Given the description of an element on the screen output the (x, y) to click on. 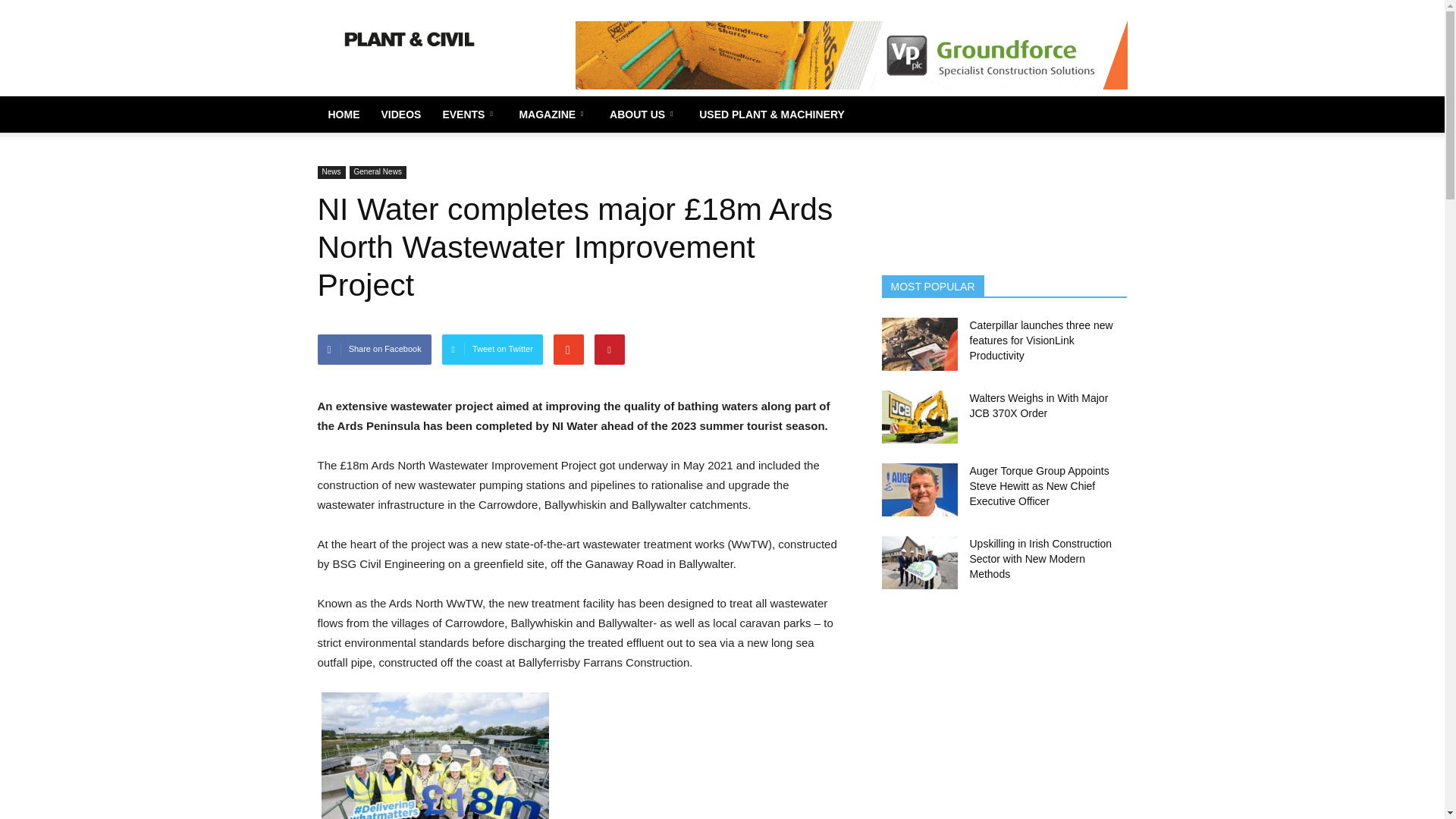
EVENTS (469, 114)
Walters Weighs in With Major JCB 370X Order (1038, 405)
ABOUT US (643, 114)
HOME (343, 114)
MAGAZINE (553, 114)
Walters Weighs in With Major JCB 370X Order (918, 416)
VIDEOS (399, 114)
